Given the description of an element on the screen output the (x, y) to click on. 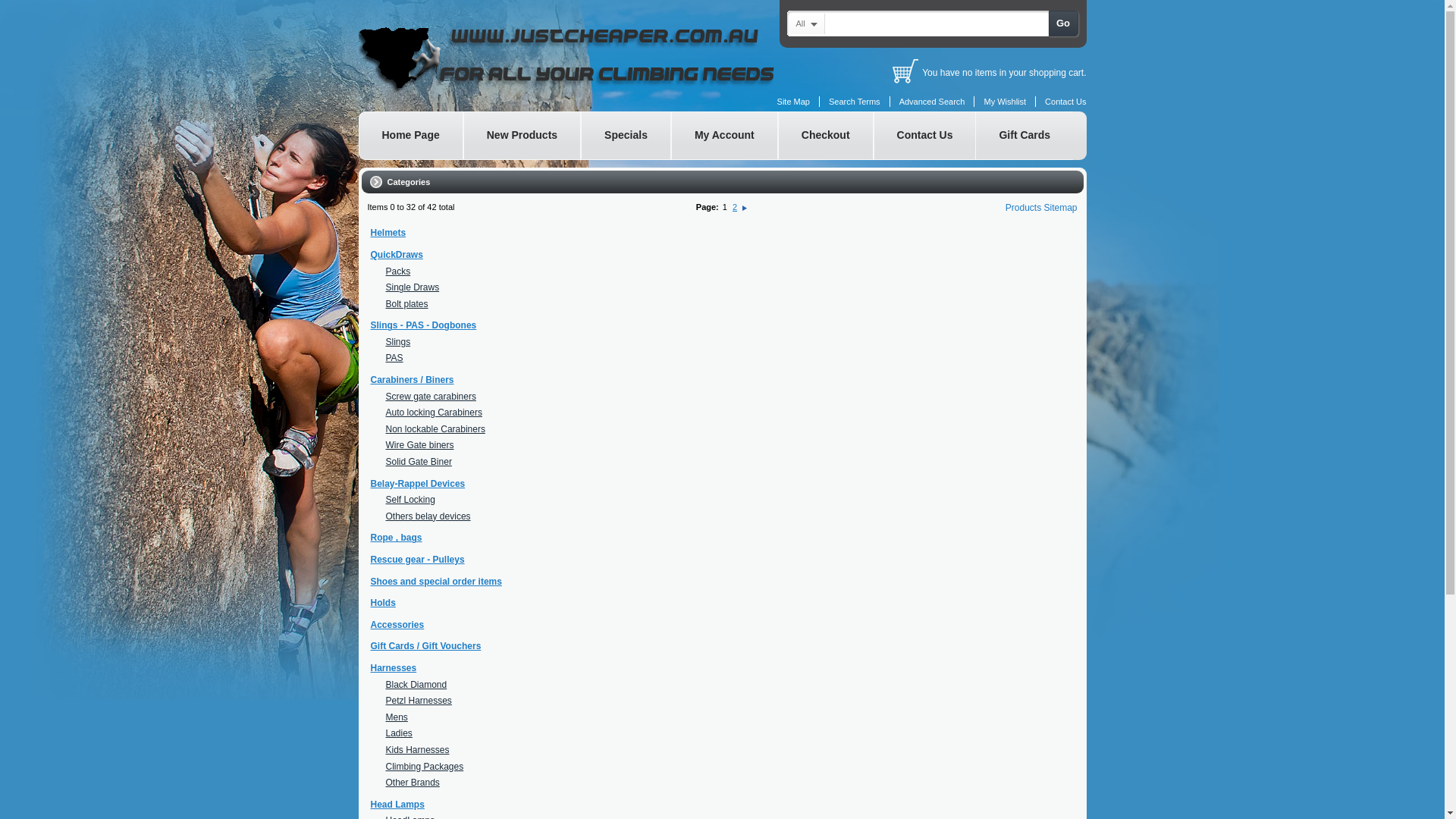
Advanced Search Element type: text (932, 101)
Black Diamond Element type: text (415, 684)
QuickDraws Element type: text (396, 254)
Others belay devices Element type: text (427, 516)
Self Locking Element type: text (409, 499)
Mens Element type: text (396, 717)
Justcheaper rock climbing gear Element type: hover (592, 57)
Petzl Harnesses Element type: text (418, 700)
My Wishlist Element type: text (1004, 101)
Site Map Element type: text (793, 101)
Non lockable Carabiners Element type: text (434, 428)
Climbing Packages Element type: text (424, 766)
My Account Element type: text (724, 135)
Contact Us Element type: text (1064, 101)
Specials Element type: text (625, 135)
Rope , bags Element type: text (395, 537)
Auto locking Carabiners Element type: text (433, 412)
Wire Gate biners Element type: text (419, 444)
Bolt plates Element type: text (406, 303)
Search Terms Element type: text (854, 101)
Contact Us Element type: text (924, 135)
Shoes and special order items Element type: text (435, 581)
Go Element type: text (1062, 23)
Solid Gate Biner Element type: text (418, 461)
New Products Element type: text (521, 135)
Checkout Element type: text (825, 135)
2 Element type: text (734, 206)
Slings - PAS - Dogbones Element type: text (423, 325)
Gift Cards / Gift Vouchers Element type: text (425, 645)
PAS Element type: text (393, 357)
Next Element type: hover (744, 206)
Gift Cards Element type: text (1024, 135)
Other Brands Element type: text (412, 782)
Home Page Element type: text (409, 135)
Kids Harnesses Element type: text (416, 749)
Single Draws Element type: text (412, 287)
Packs Element type: text (397, 271)
Head Lamps Element type: text (396, 804)
Products Sitemap Element type: text (1041, 207)
Rescue gear - Pulleys Element type: text (417, 559)
Holds Element type: text (382, 602)
Helmets Element type: text (387, 232)
Ladies Element type: text (398, 733)
Screw gate carabiners Element type: text (430, 396)
Accessories Element type: text (396, 624)
Harnesses Element type: text (393, 667)
Belay-Rappel Devices Element type: text (417, 483)
Slings Element type: text (397, 341)
Carabiners / Biners Element type: text (411, 379)
